Given the description of an element on the screen output the (x, y) to click on. 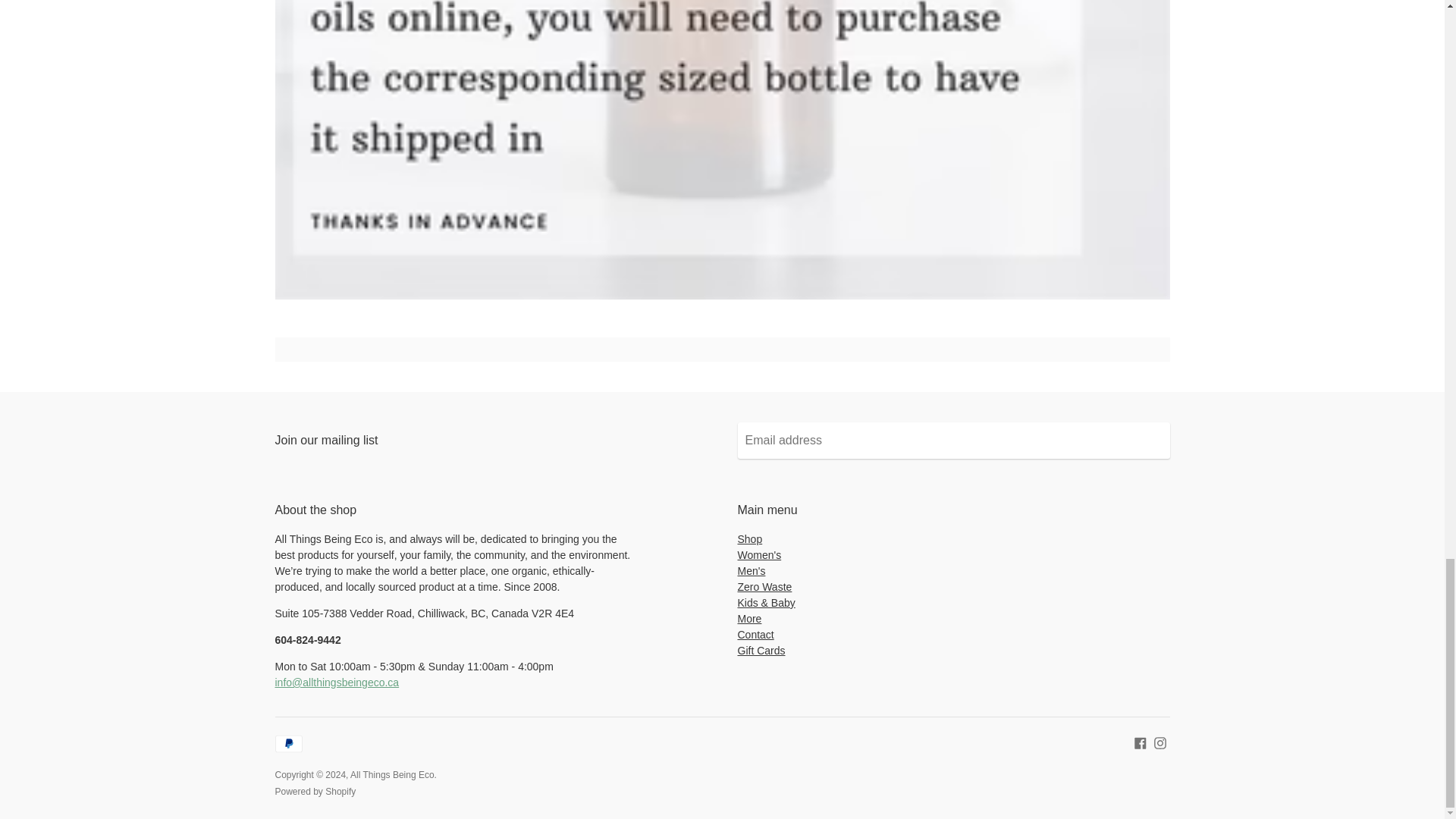
All Things Being Eco on Facebook (1140, 741)
PayPal (288, 743)
All Things Being Eco on Instagram (1160, 741)
